Given the description of an element on the screen output the (x, y) to click on. 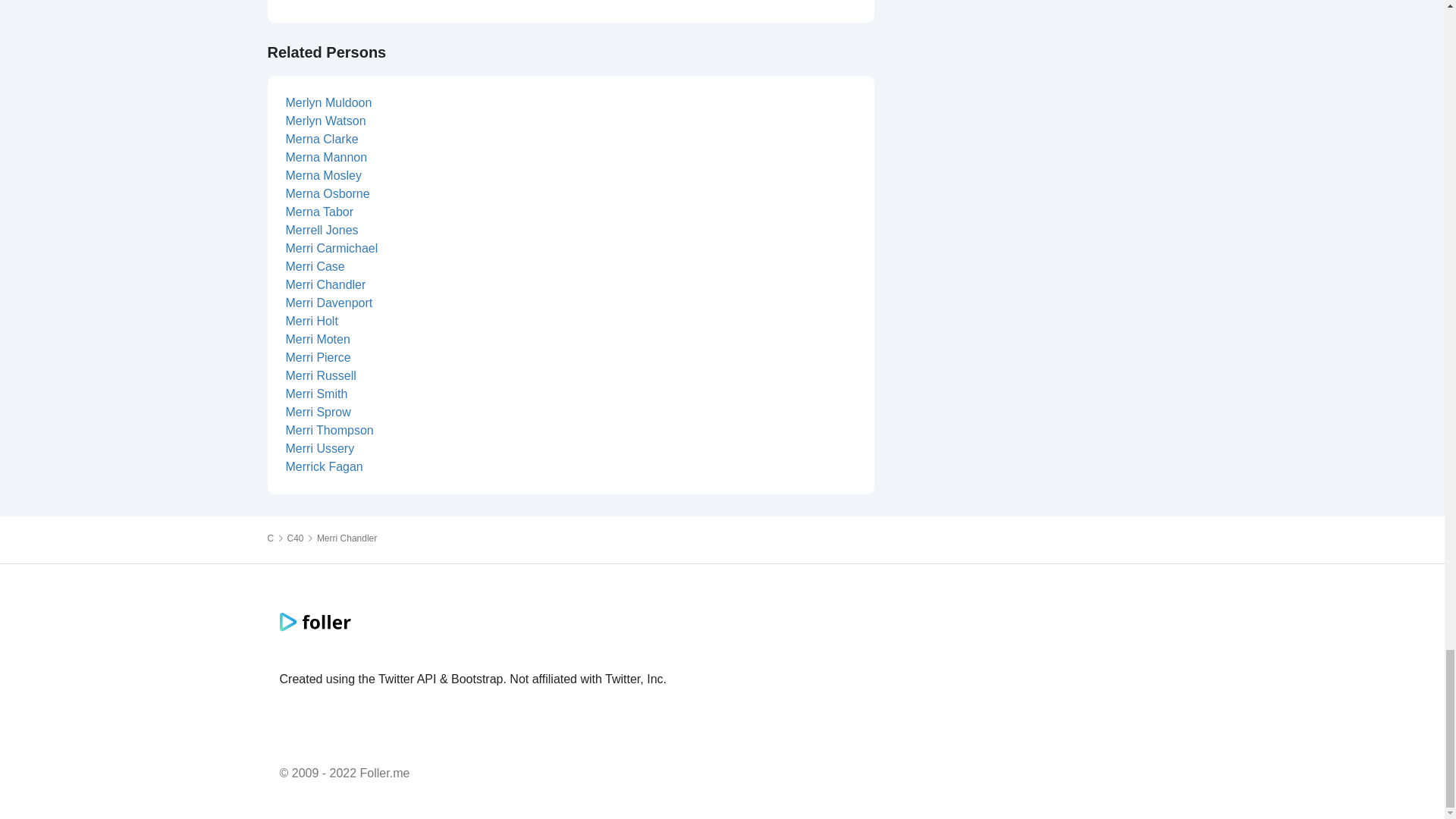
Merri Chandler Social Profiles (347, 538)
Surnames Starting with C - Page 40 (295, 538)
